Given the description of an element on the screen output the (x, y) to click on. 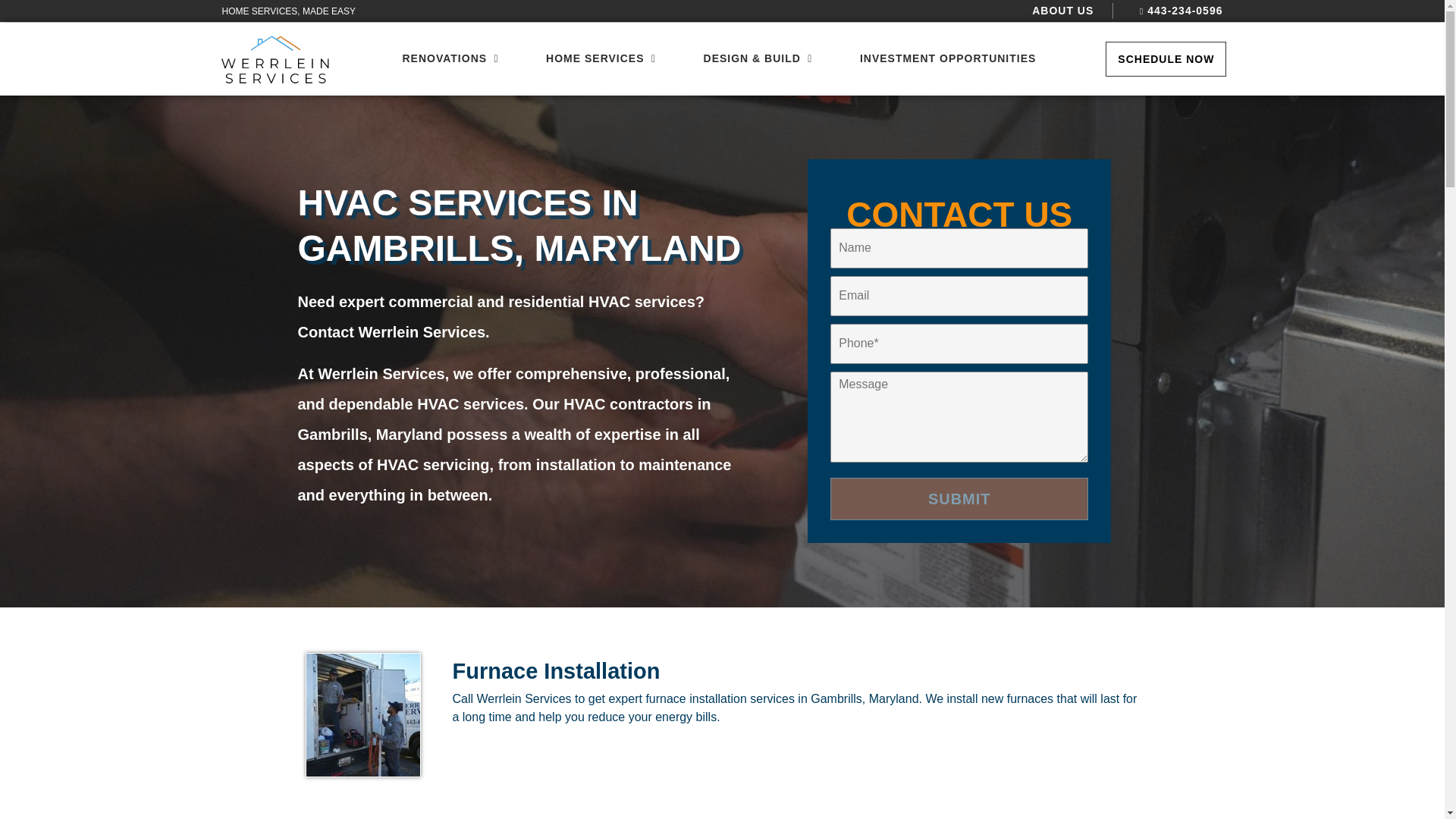
RENOVATIONS (443, 58)
ABOUT US (1062, 10)
INVESTMENT OPPORTUNITIES (947, 58)
443-234-0596 (1177, 10)
HOME SERVICES (594, 58)
